Given the description of an element on the screen output the (x, y) to click on. 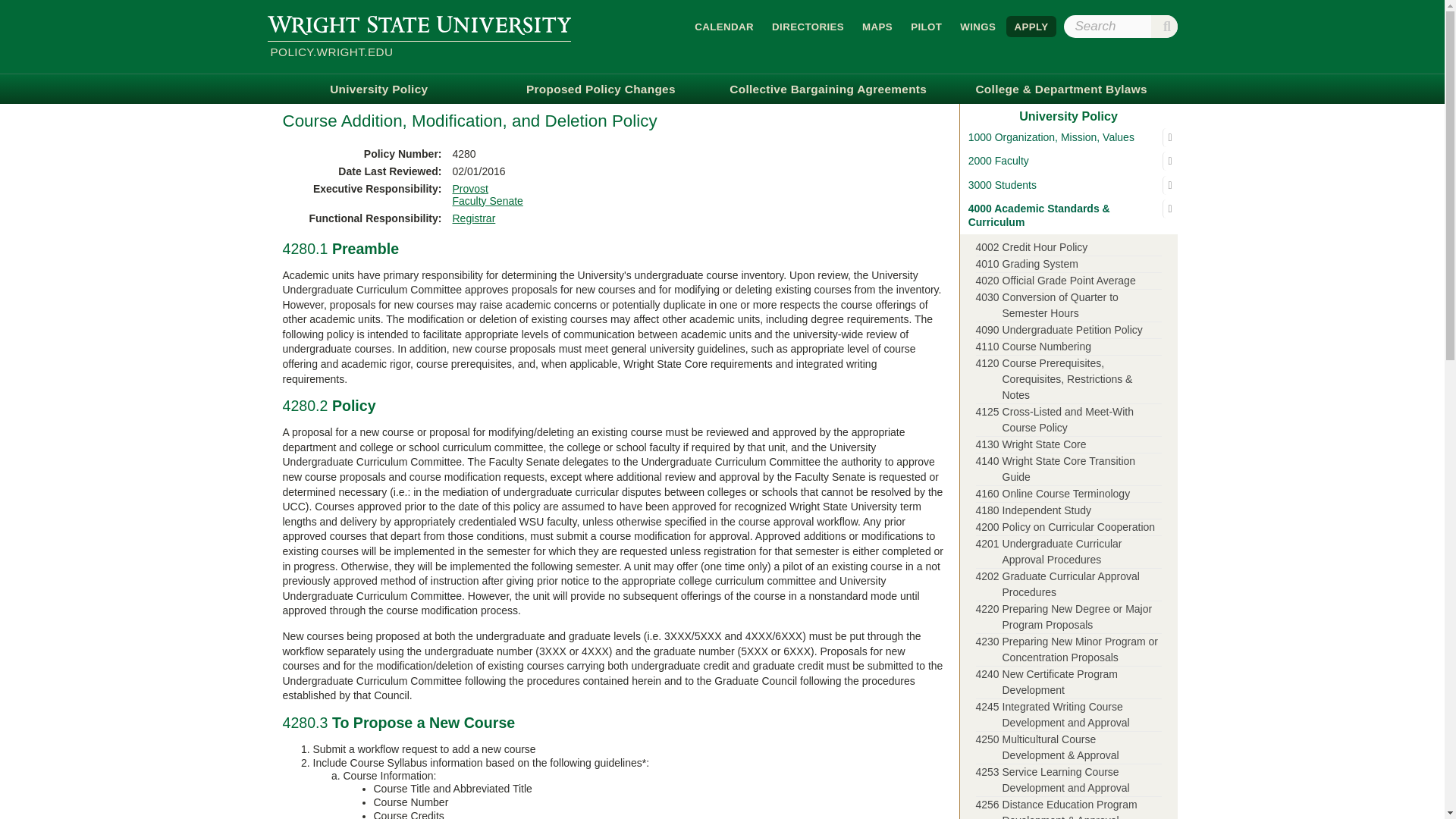
CALENDAR (724, 25)
APPLY (1030, 25)
DIRECTORIES (807, 25)
PILOT (925, 25)
POLICY.WRIGHT.EDU (418, 53)
University Policy (378, 89)
Search (1164, 26)
Search (1164, 26)
WINGS (977, 25)
MAPS (876, 25)
